Given the description of an element on the screen output the (x, y) to click on. 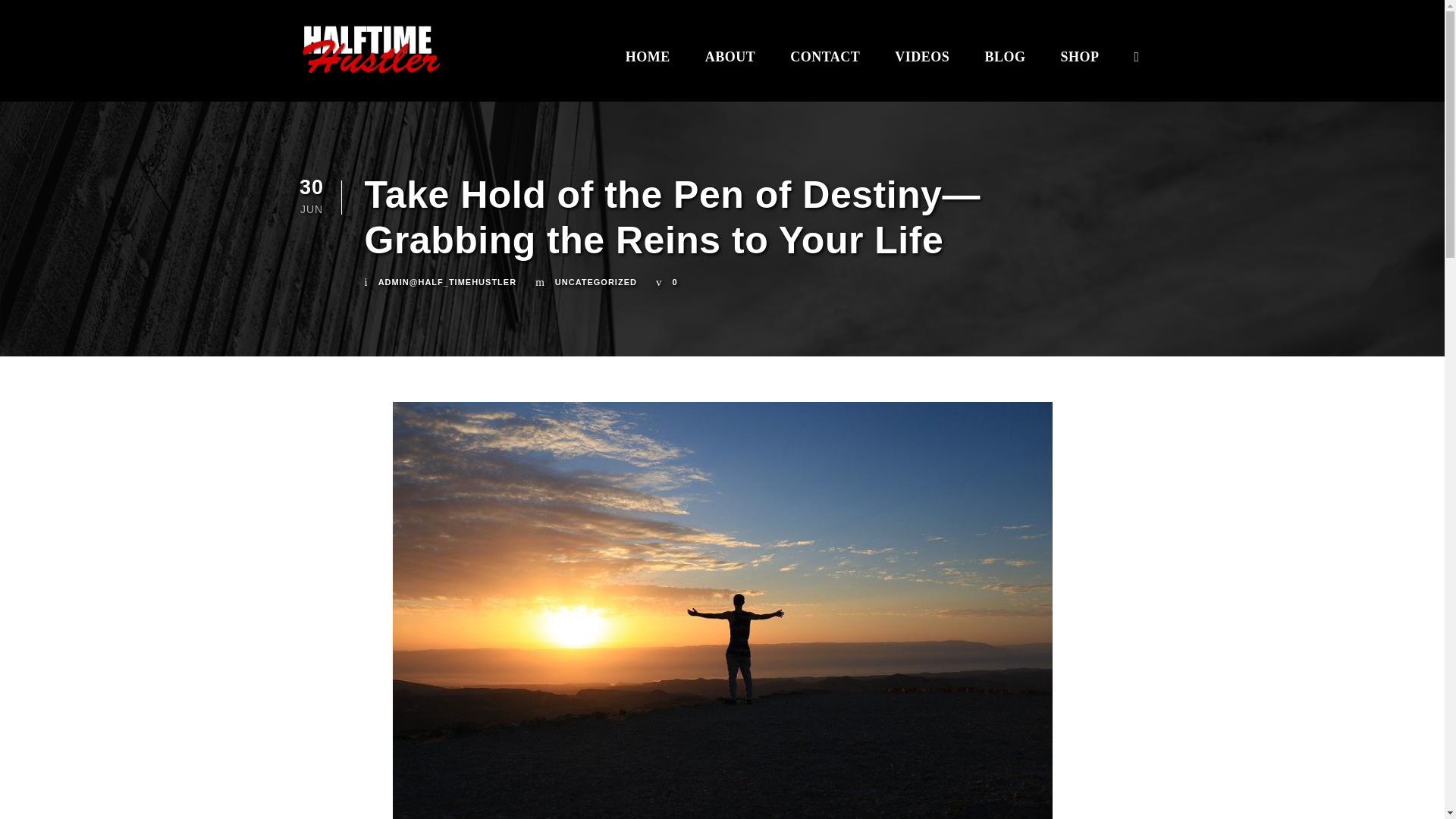
Halftime-Hustler-logo-2 (369, 50)
BLOG (1004, 64)
HOME (647, 64)
SHOP (1079, 64)
CONTACT (825, 64)
UNCATEGORIZED (595, 281)
ABOUT (729, 64)
VIDEOS (922, 64)
